Given the description of an element on the screen output the (x, y) to click on. 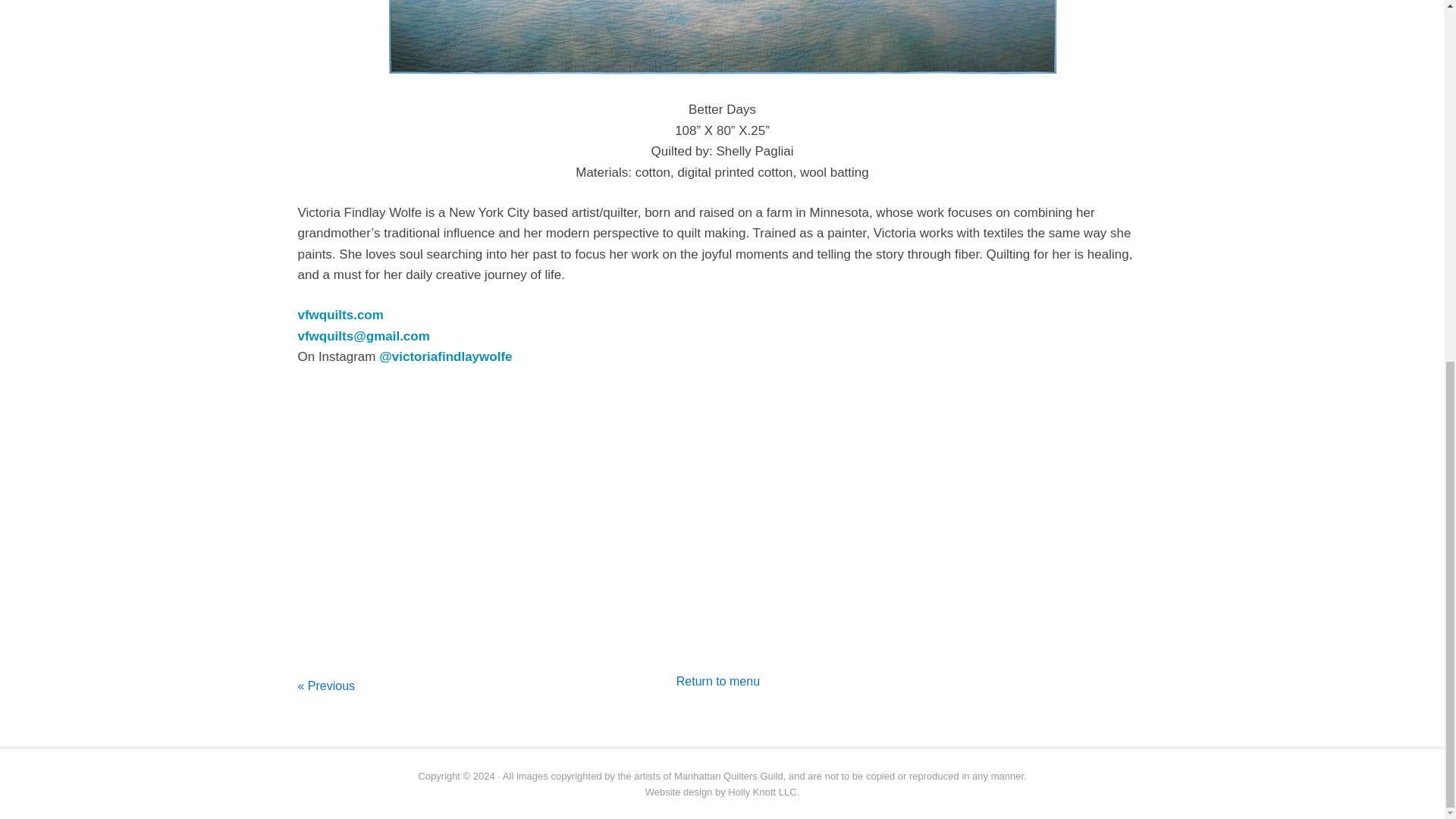
vfwquilts.com (339, 314)
Return to menu (718, 680)
Holly Knott LLC (762, 791)
